Given the description of an element on the screen output the (x, y) to click on. 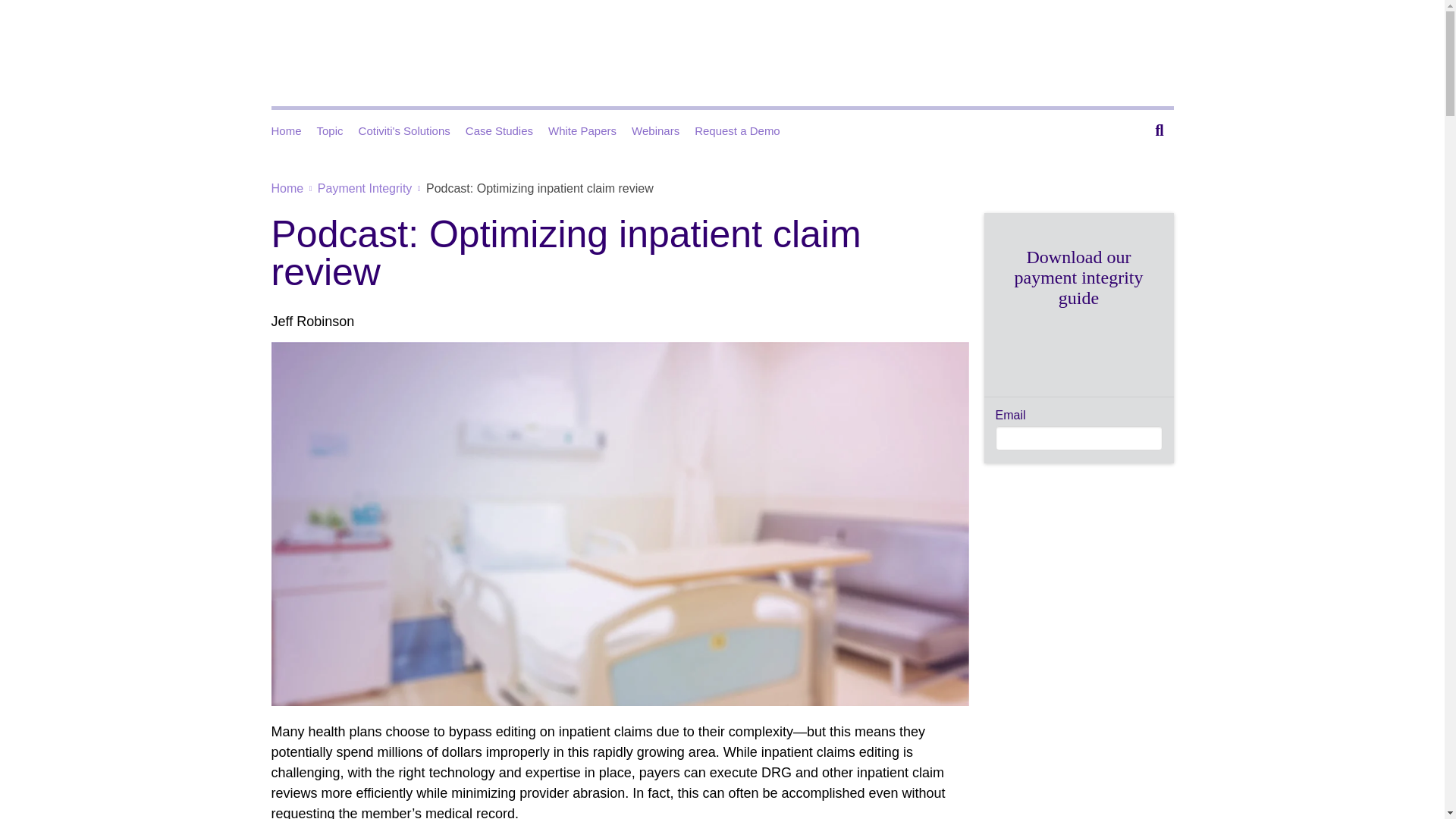
Home (293, 129)
Payment Integrity (364, 188)
Home (287, 188)
Jeff Robinson (411, 129)
Author (312, 321)
Case Studies (312, 322)
Open search box (506, 129)
Request a Demo (1155, 130)
White Papers (744, 129)
